Given the description of an element on the screen output the (x, y) to click on. 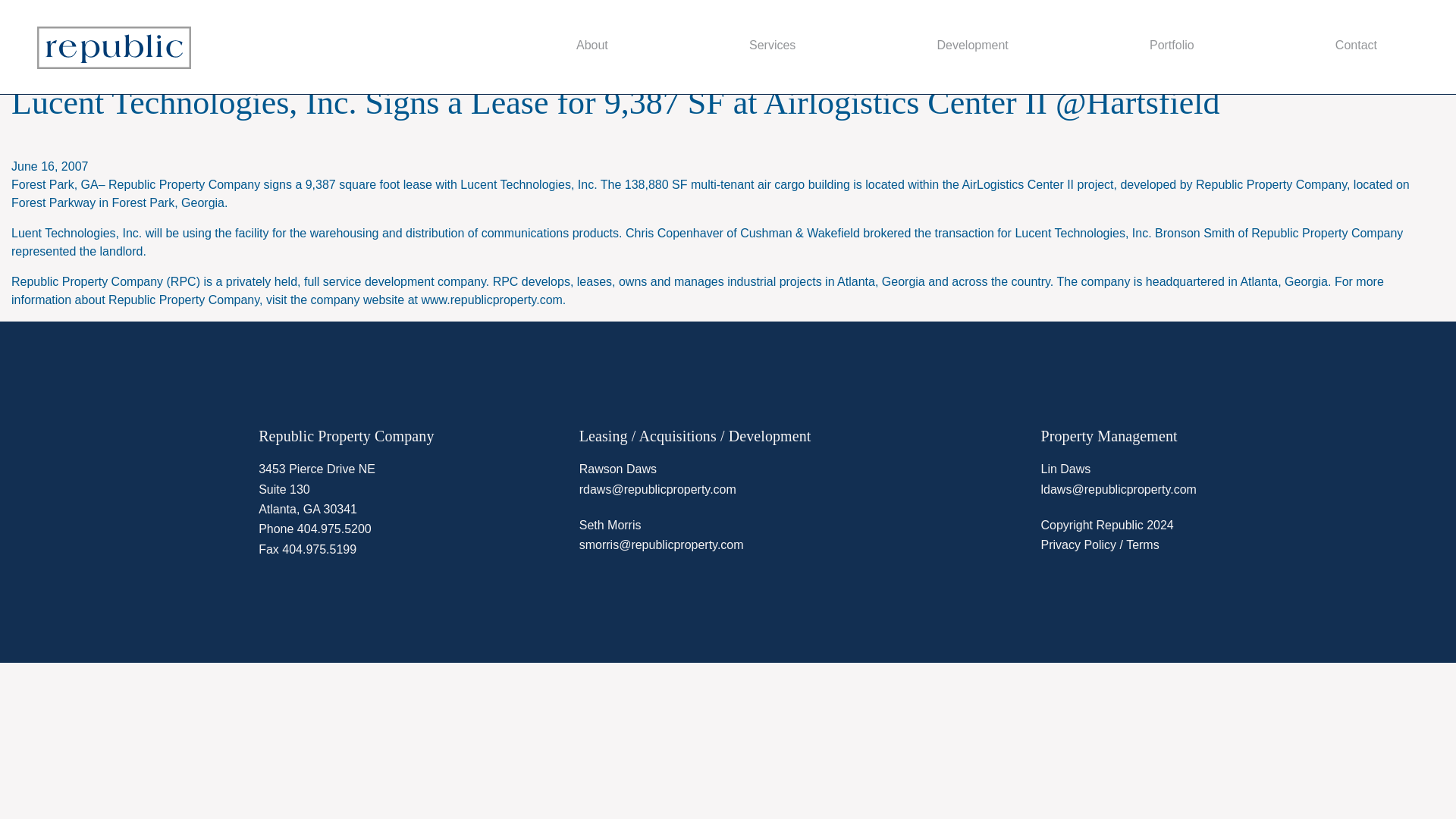
Republic Property Company (114, 47)
404.975.5200 (334, 528)
Portfolio (1170, 45)
Contact (1356, 45)
Development (972, 45)
404.975.5199 (319, 549)
Services (772, 45)
About (592, 45)
